Given the description of an element on the screen output the (x, y) to click on. 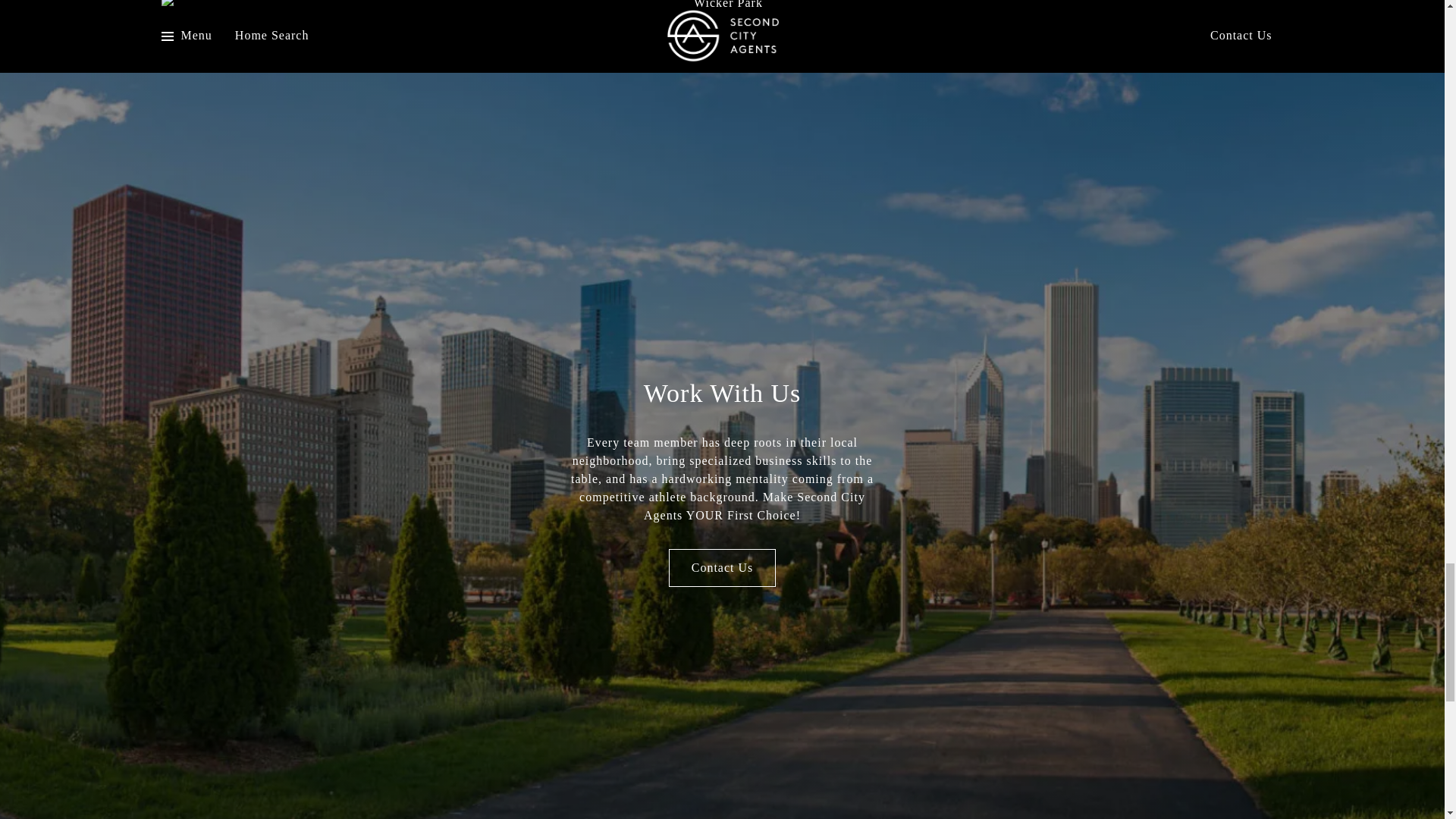
Contact Us (722, 567)
